Given the description of an element on the screen output the (x, y) to click on. 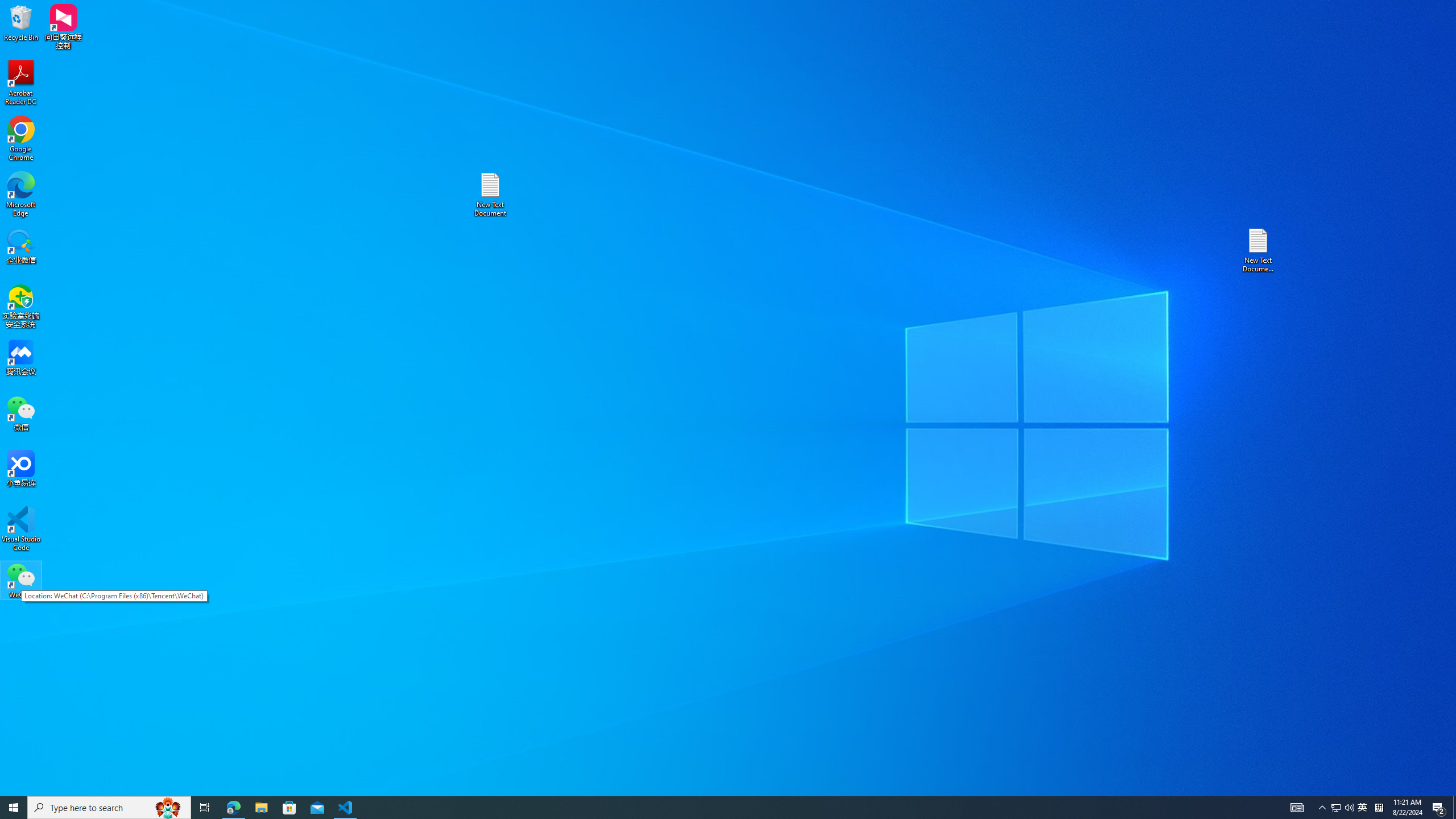
File Explorer (261, 807)
Type here to search (108, 807)
New Text Document (489, 194)
User Promoted Notification Area (1342, 807)
New Text Document (2) (1258, 250)
Tray Input Indicator - Chinese (Simplified, China) (1362, 807)
Show desktop (1378, 807)
Recycle Bin (1454, 807)
Google Chrome (21, 22)
